Given the description of an element on the screen output the (x, y) to click on. 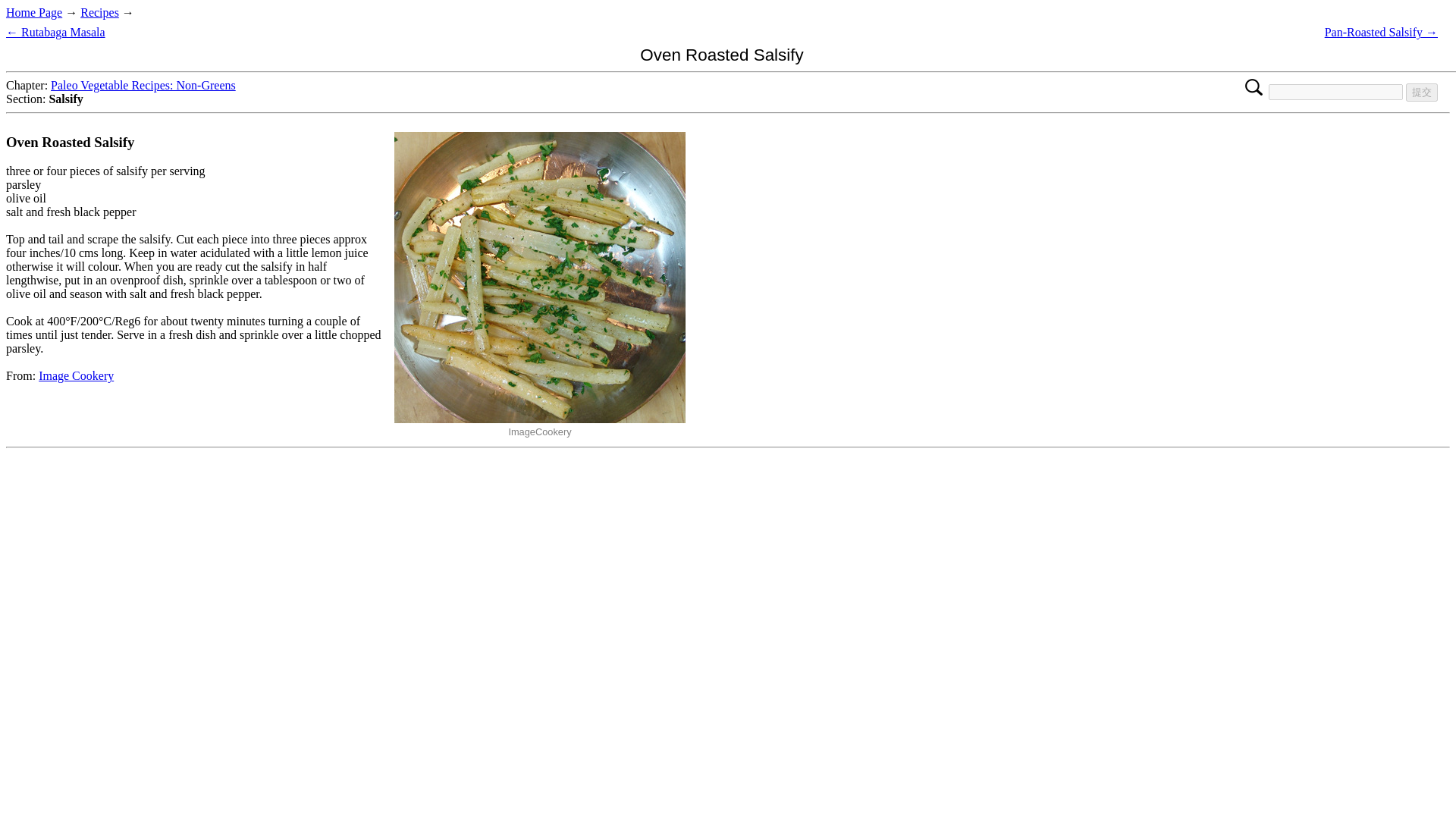
Go to Next (1381, 31)
Image Cookery (76, 375)
search website (1335, 91)
Go to Previous (54, 31)
Recipes (99, 11)
Paleo Vegetable Recipes: Non-Greens (142, 84)
Home Page (33, 11)
